Given the description of an element on the screen output the (x, y) to click on. 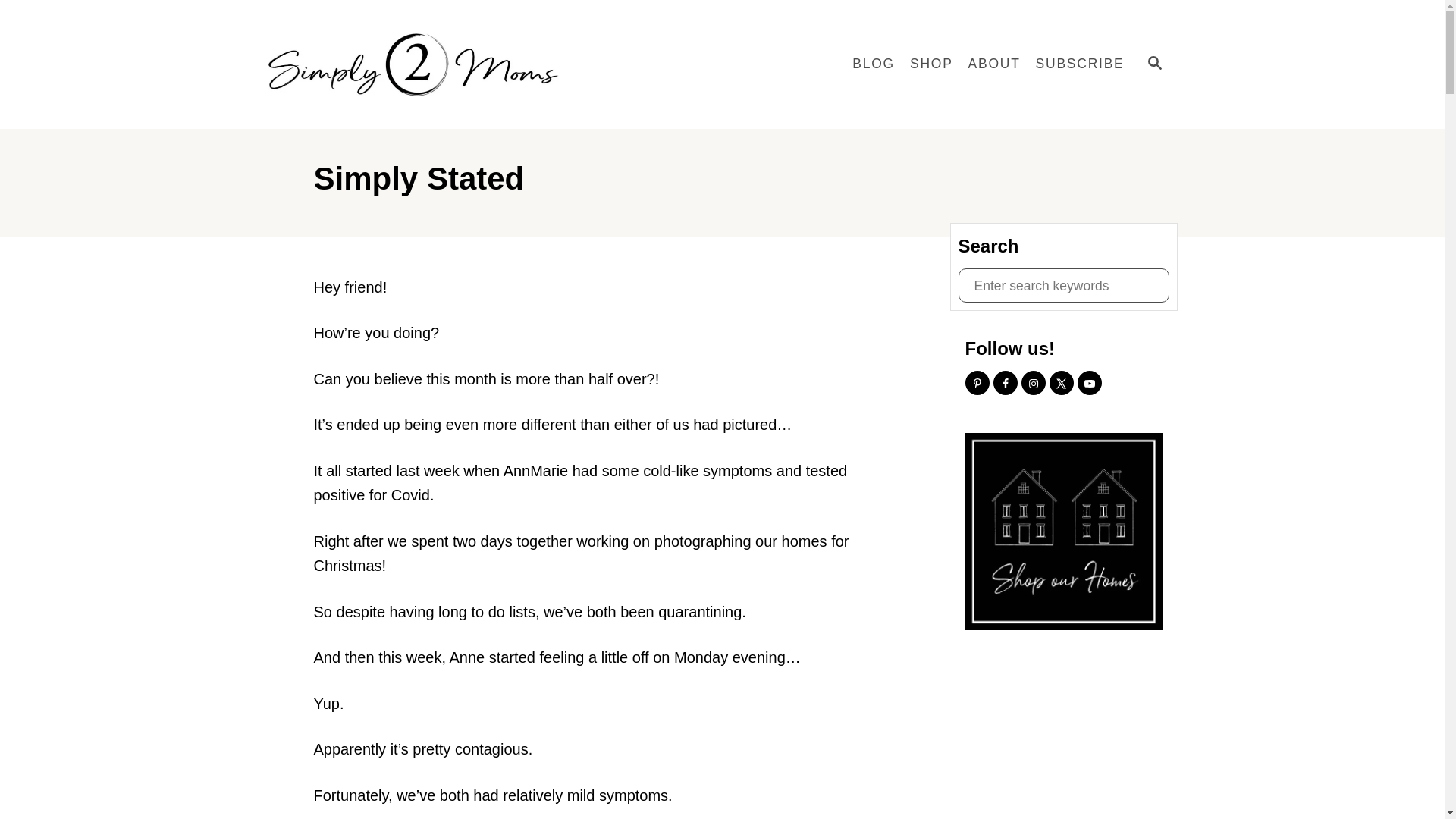
SHOP (931, 64)
Follow on Instagram (1033, 382)
Follow on Pinterest (975, 382)
Search for: (1063, 285)
Follow on YouTube (1089, 382)
Follow on Facebook (1004, 382)
Follow on X (1061, 382)
SUBSCRIBE (1079, 64)
Simply2moms (418, 64)
SEARCH (1153, 63)
